Given the description of an element on the screen output the (x, y) to click on. 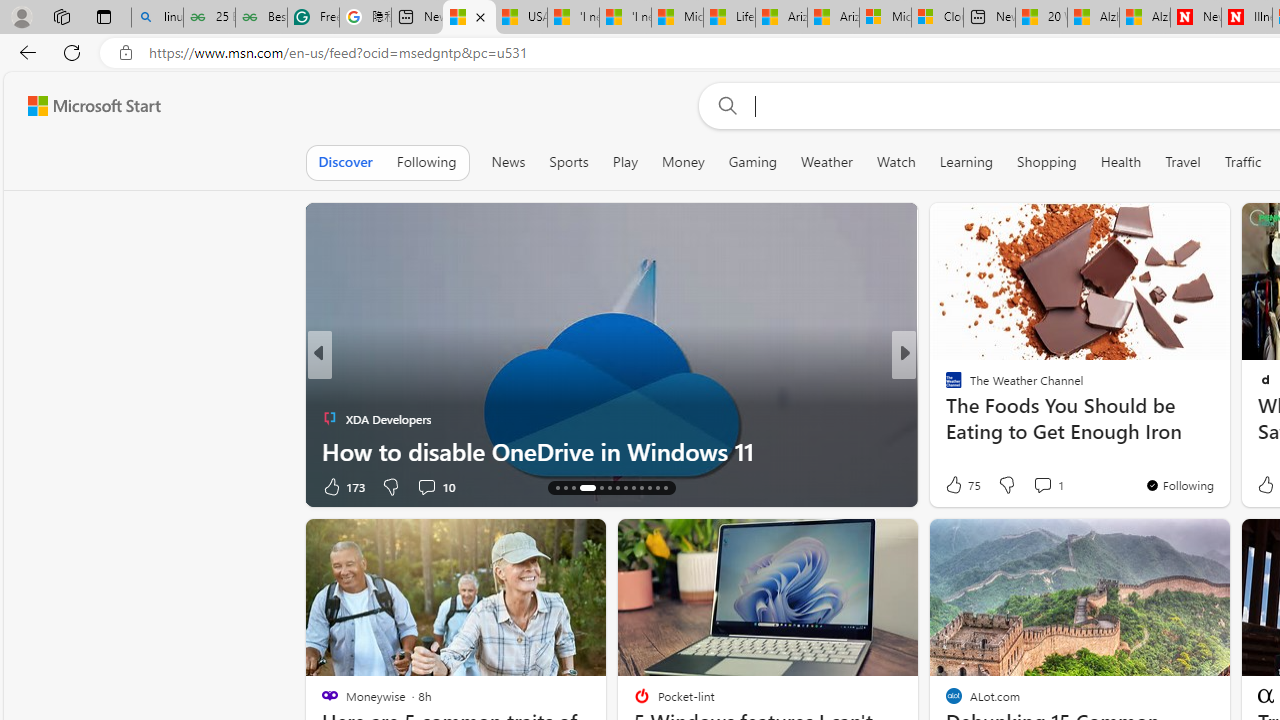
AutomationID: tab-14 (556, 487)
59 Like (956, 486)
View comments 787 Comment (1048, 486)
Kobocents (944, 386)
AutomationID: tab-22 (632, 487)
Lovefood (944, 418)
AutomationID: tab-24 (649, 487)
CNBC (944, 386)
